Given the description of an element on the screen output the (x, y) to click on. 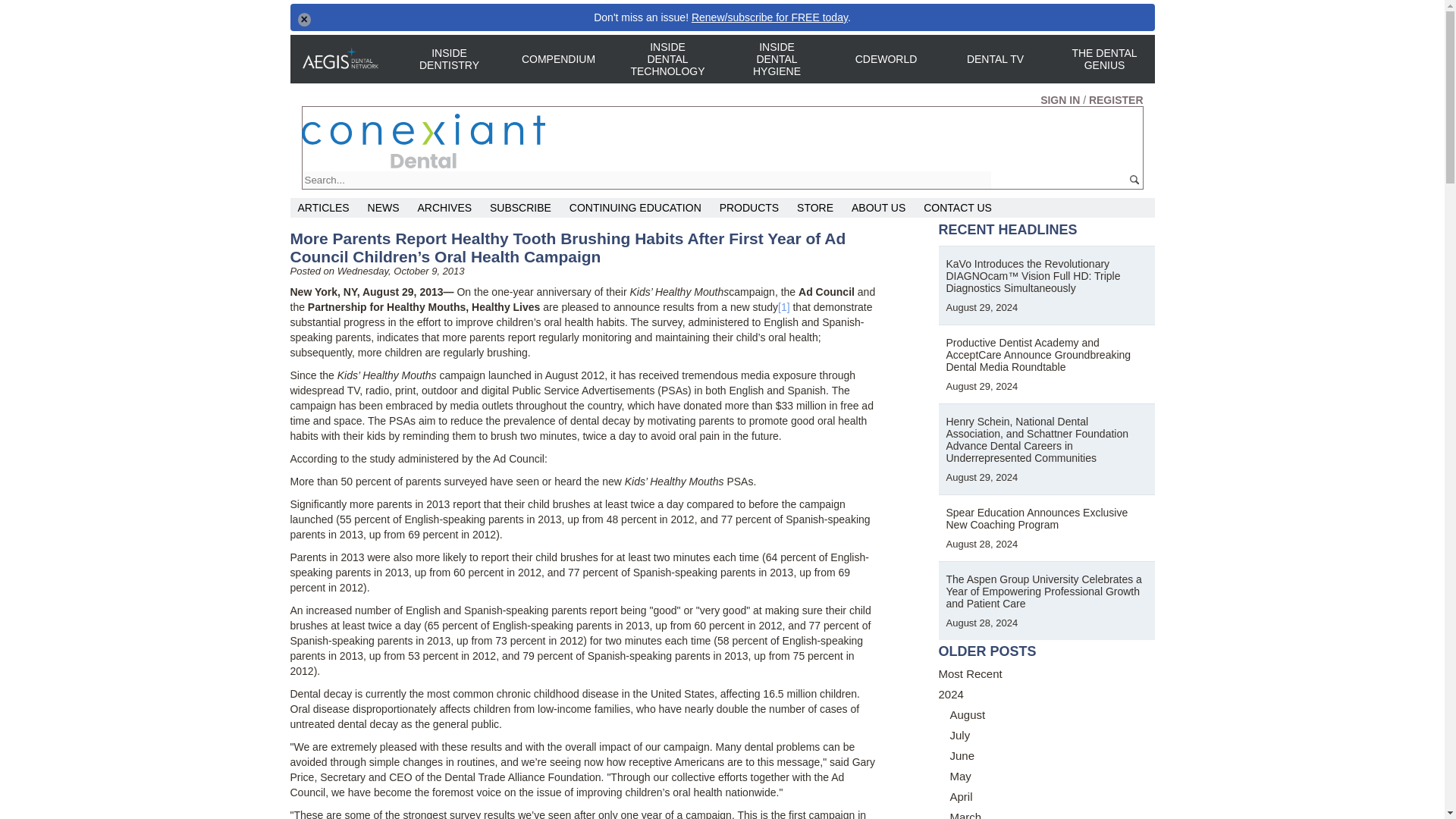
CDEWORLD (885, 59)
INSIDE DENTAL TECHNOLOGY (666, 58)
INSIDE DENTAL HYGIENE (775, 58)
COMPENDIUM (557, 59)
INSIDE DENTISTRY (448, 58)
